Given the description of an element on the screen output the (x, y) to click on. 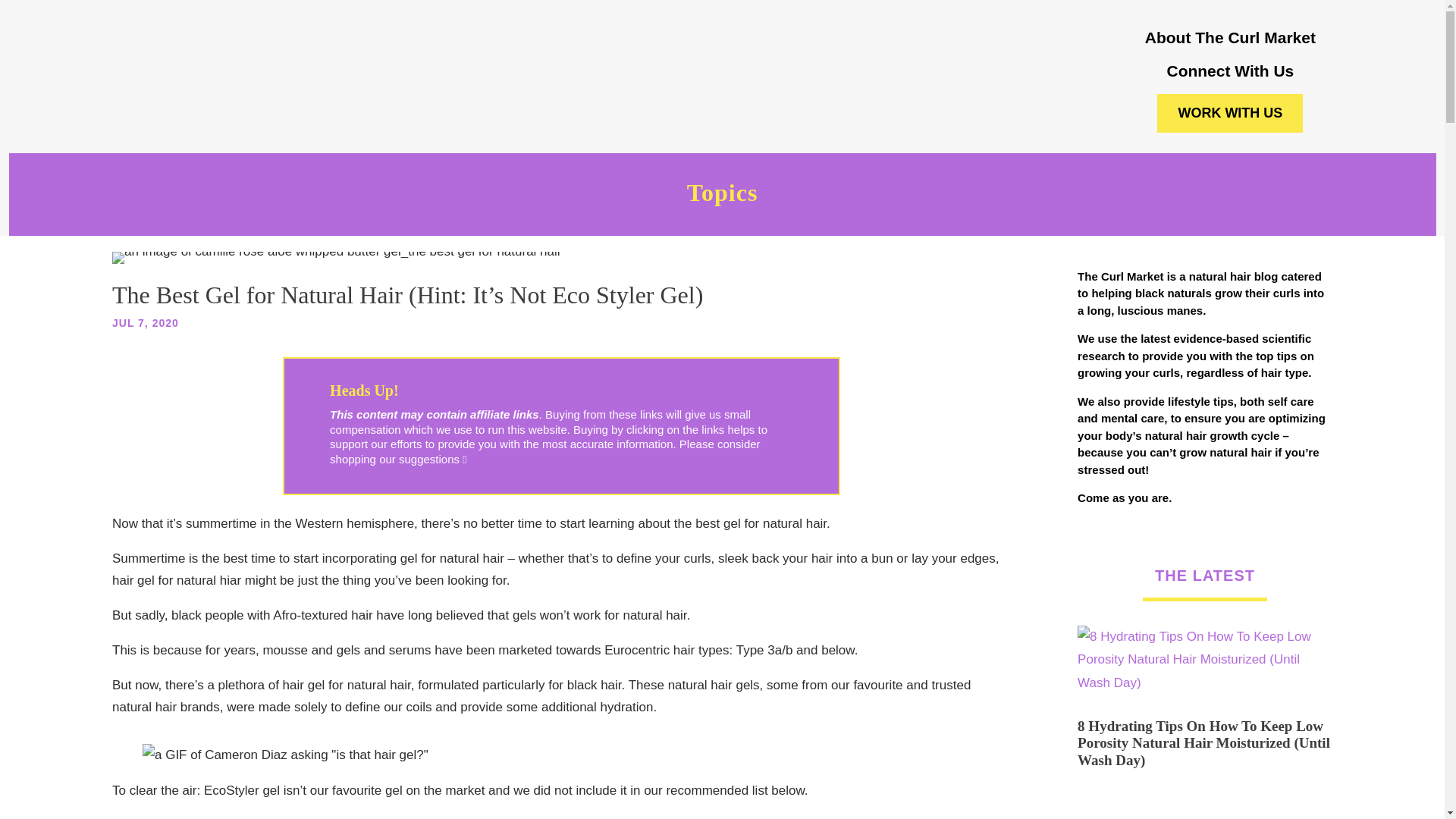
Topics (722, 198)
WORK WITH US (1230, 113)
Connect With Us (1230, 70)
About The Curl Market (1230, 36)
